Given the description of an element on the screen output the (x, y) to click on. 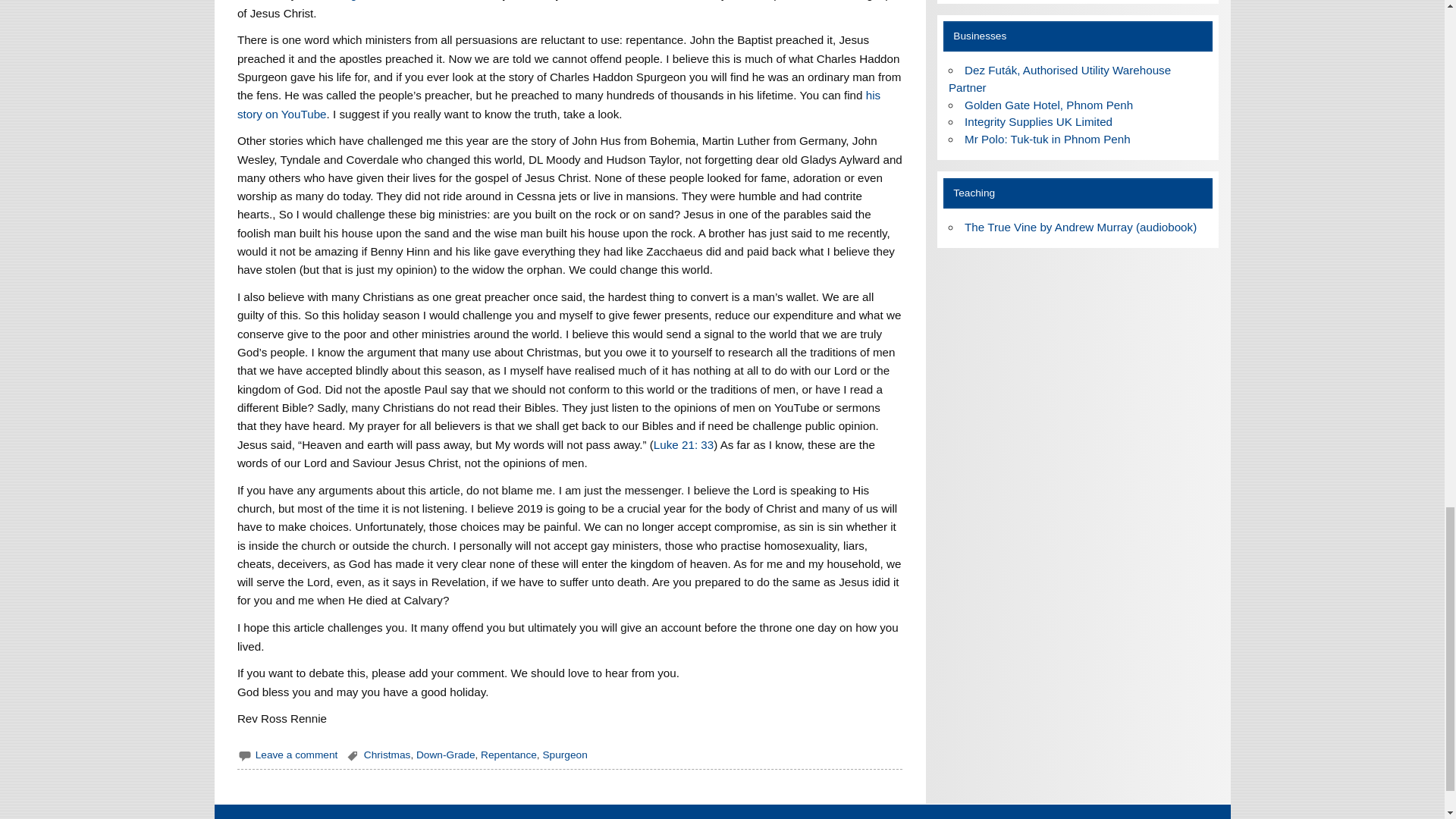
Luke 21: 33 (683, 444)
Leave a comment (296, 754)
Down-Grade (446, 754)
Christmas (387, 754)
Save money on energy, broadband and mobile phone service (1059, 78)
his story on YouTube (558, 103)
down-grade (349, 0)
Spurgeon (563, 754)
Repentance (508, 754)
Integrity Supplies (1037, 121)
